Given the description of an element on the screen output the (x, y) to click on. 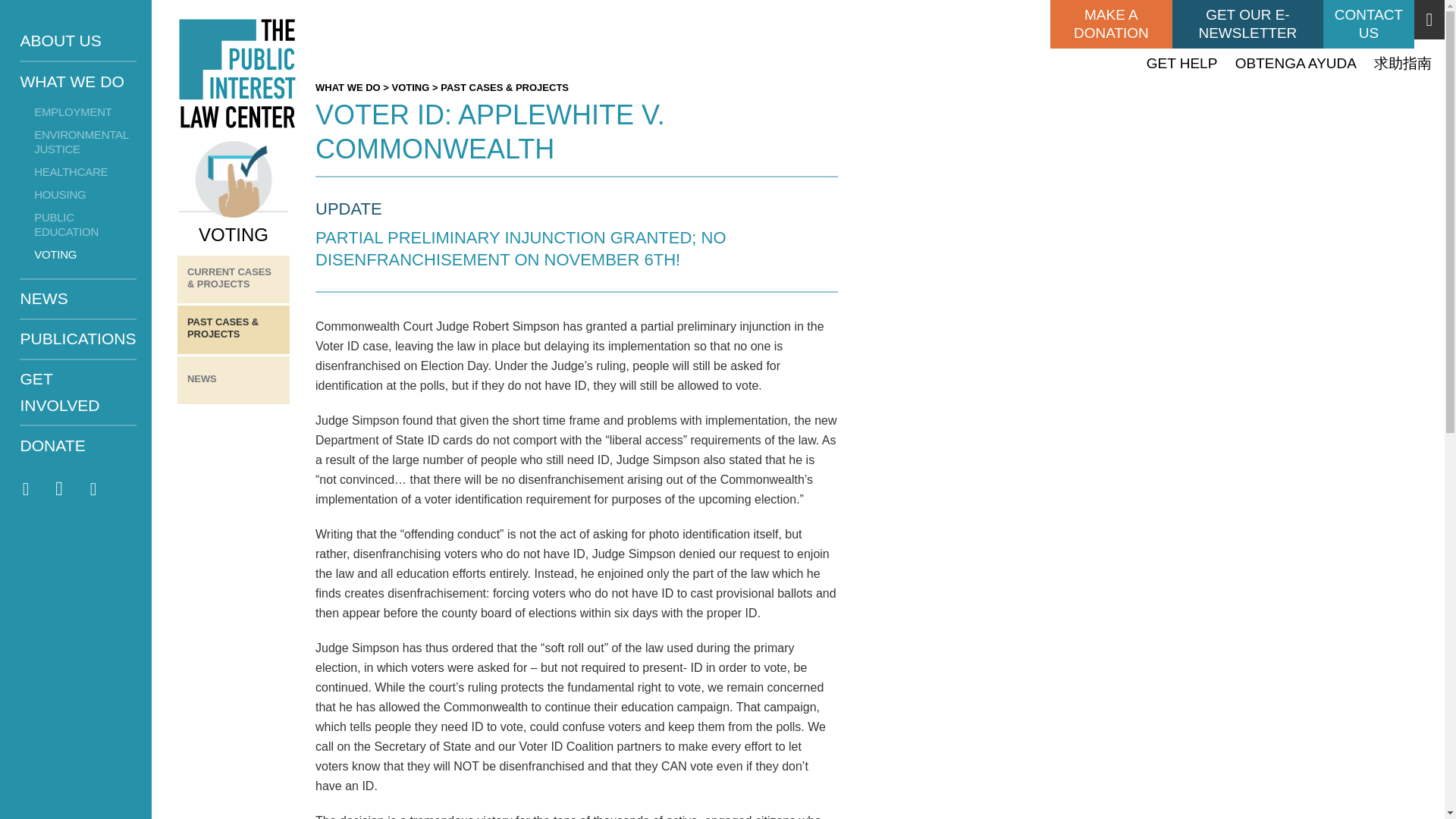
WHAT WE DO (78, 81)
VOTING (78, 254)
NEWS (78, 299)
EMPLOYMENT (78, 111)
GET HELP (1187, 63)
GET INVOLVED (78, 392)
OBTENGA AYUDA (1300, 63)
ENVIRONMENTAL JUSTICE (78, 142)
NEWS (233, 380)
VOTING (233, 193)
HEALTHCARE (78, 171)
VOTING (410, 87)
PUBLIC EDUCATION (78, 225)
MAKE A DONATION (1110, 24)
GET OUR E-NEWSLETTER (1247, 24)
